Given the description of an element on the screen output the (x, y) to click on. 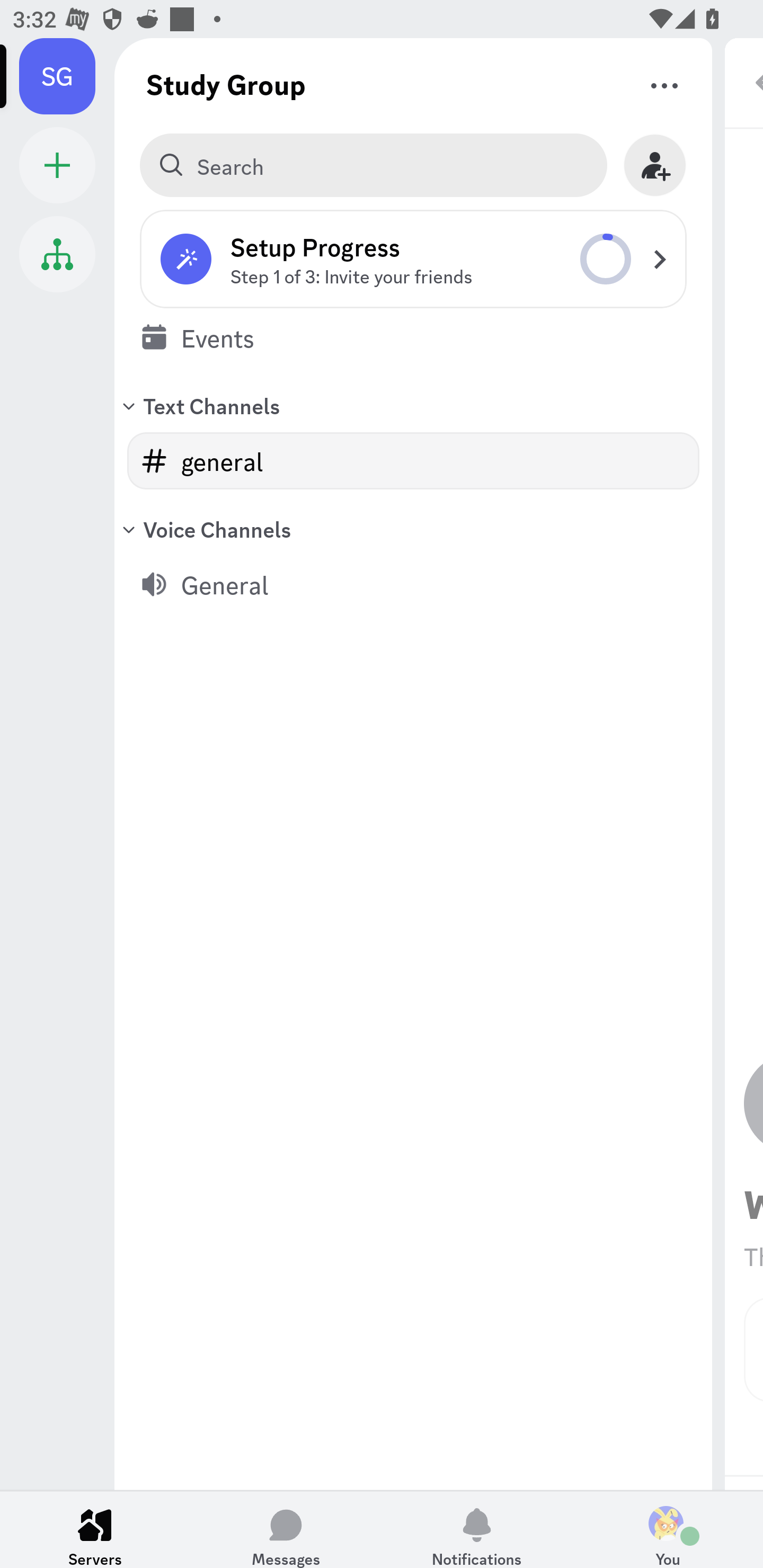
  Study Group SG (66, 75)
Study Group (226, 83)
Add a Server (57, 165)
Search (373, 165)
Invite (654, 165)
Student Hub (57, 253)
Events (413, 336)
Text Channels (412, 404)
general (text channel) general (413, 460)
Voice Channels (412, 528)
General (voice channel), 0 users General (413, 584)
Servers (95, 1529)
Messages (285, 1529)
Notifications (476, 1529)
You (667, 1529)
